Given the description of an element on the screen output the (x, y) to click on. 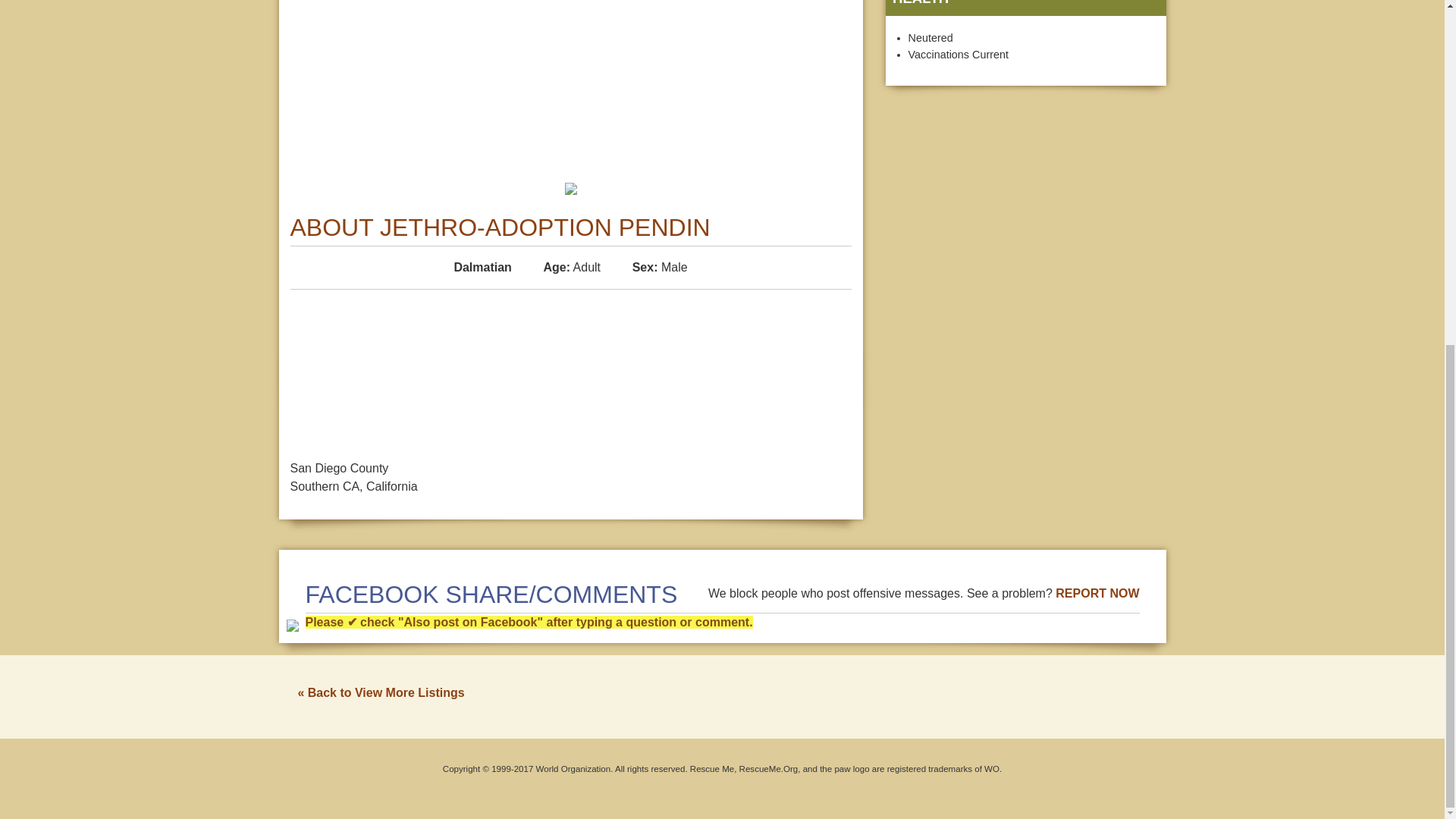
REPORT NOW (1096, 593)
